Given the description of an element on the screen output the (x, y) to click on. 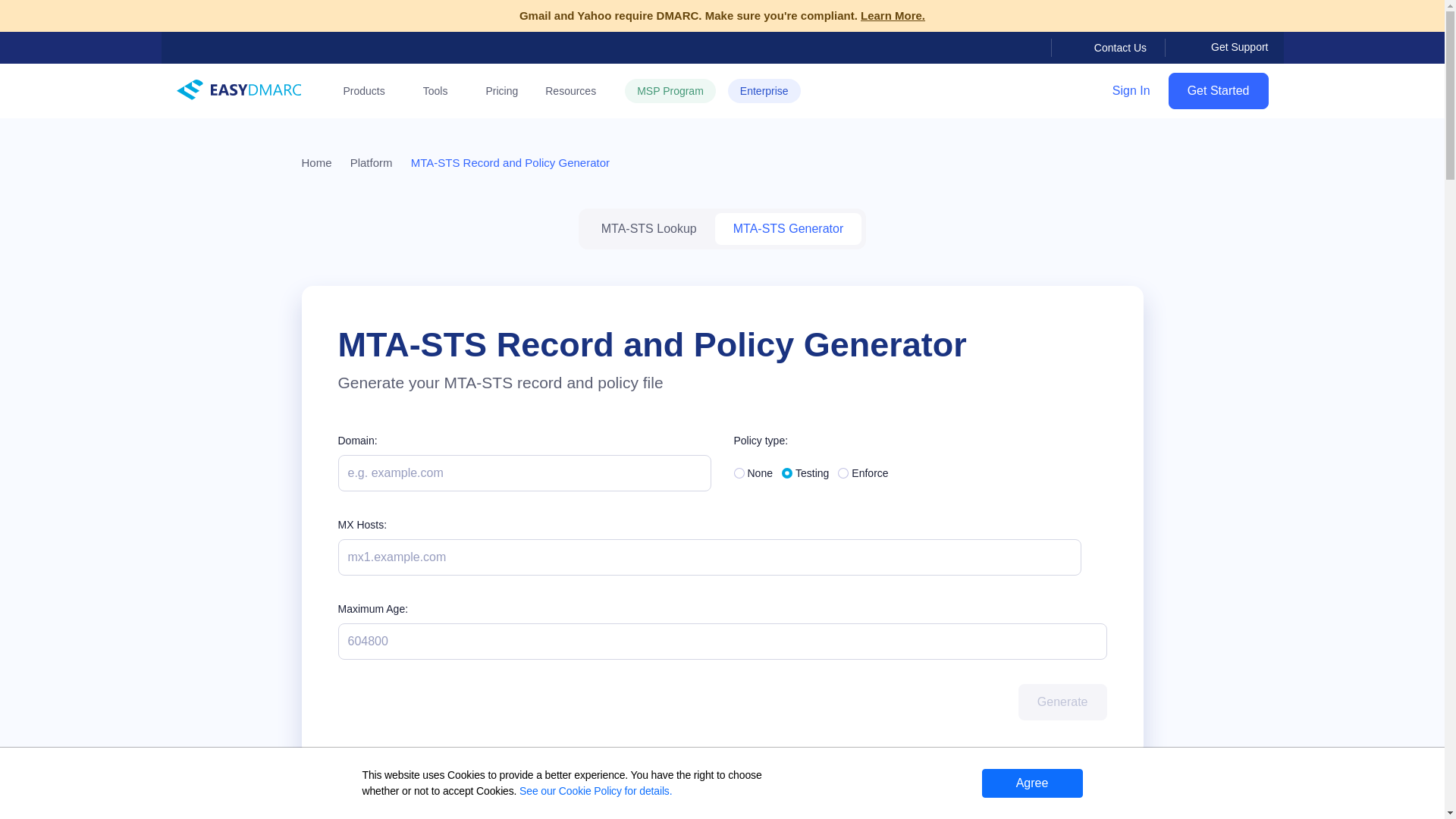
Products (368, 90)
EasyDMARC (239, 89)
Learn More. (892, 15)
Contact Us (1099, 47)
Tools (440, 90)
Get Support (1216, 47)
